Given the description of an element on the screen output the (x, y) to click on. 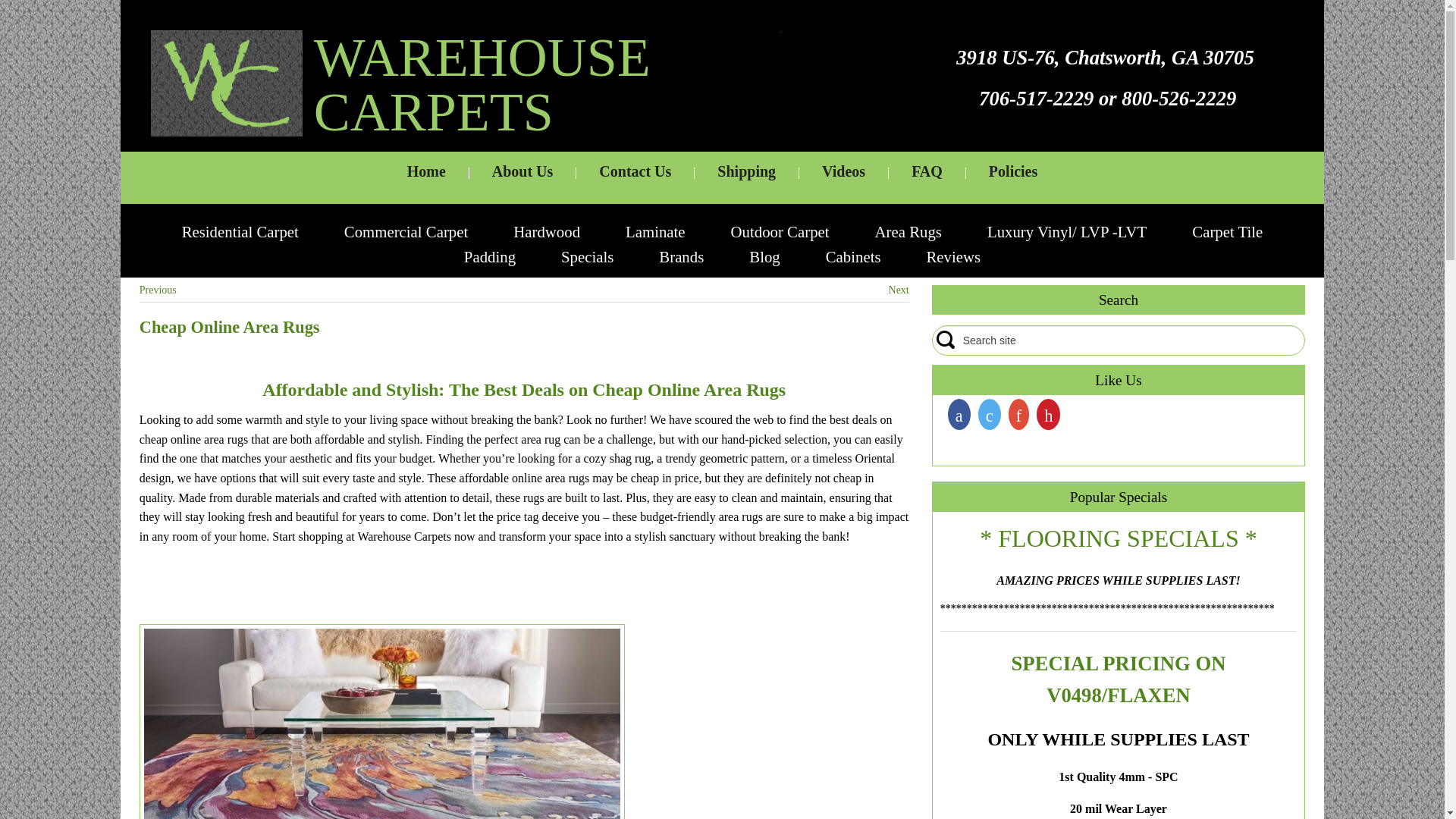
Area Rugs (908, 231)
About Us (522, 177)
Next (898, 289)
Padding (489, 256)
Blog (763, 256)
Reviews (953, 256)
Carpet Tile (1227, 231)
Residential Carpet (240, 231)
Shipping (746, 177)
Specials (586, 256)
